Given the description of an element on the screen output the (x, y) to click on. 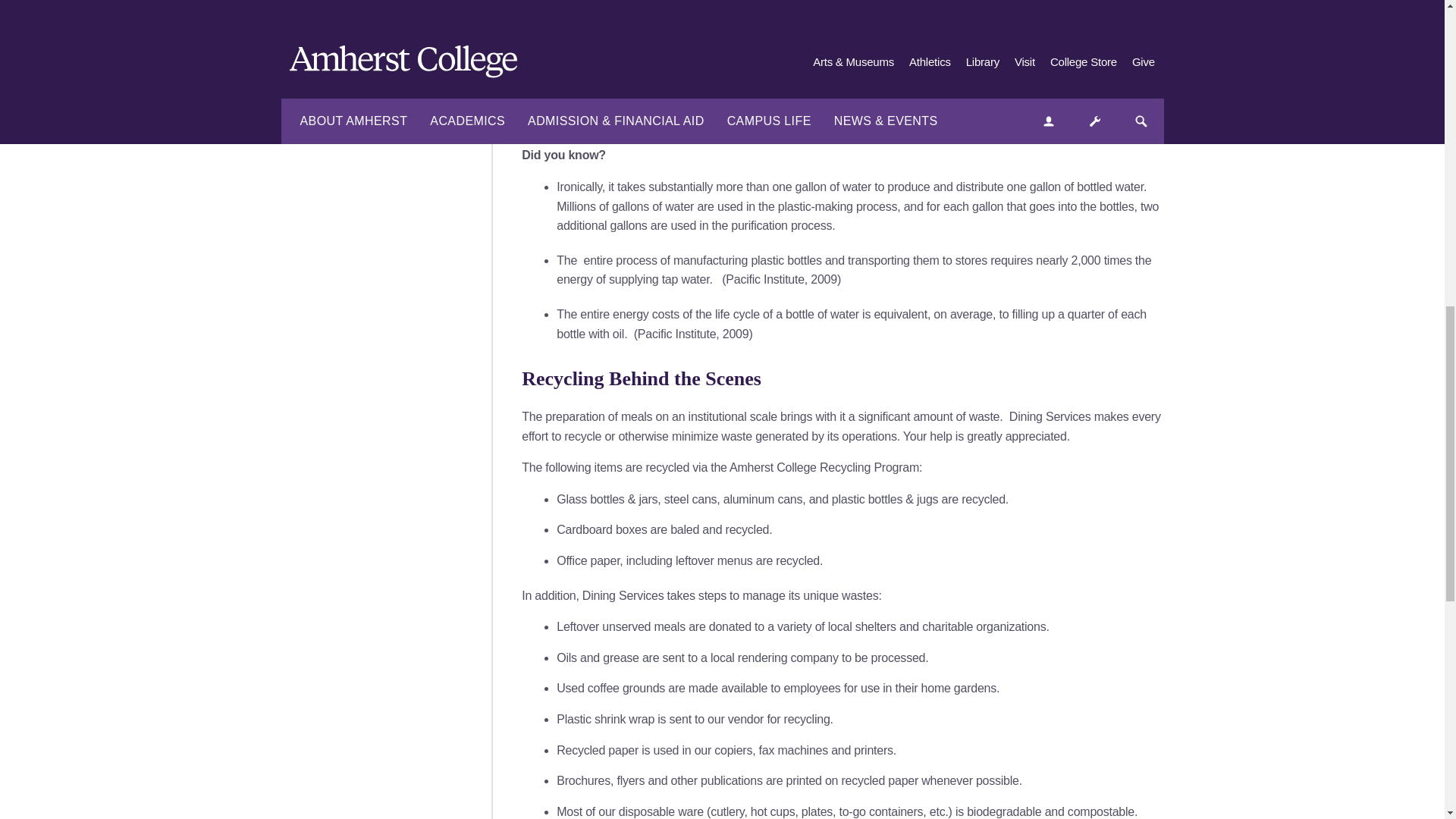
Bottle and Can Recycling (1049, 38)
